Given the description of an element on the screen output the (x, y) to click on. 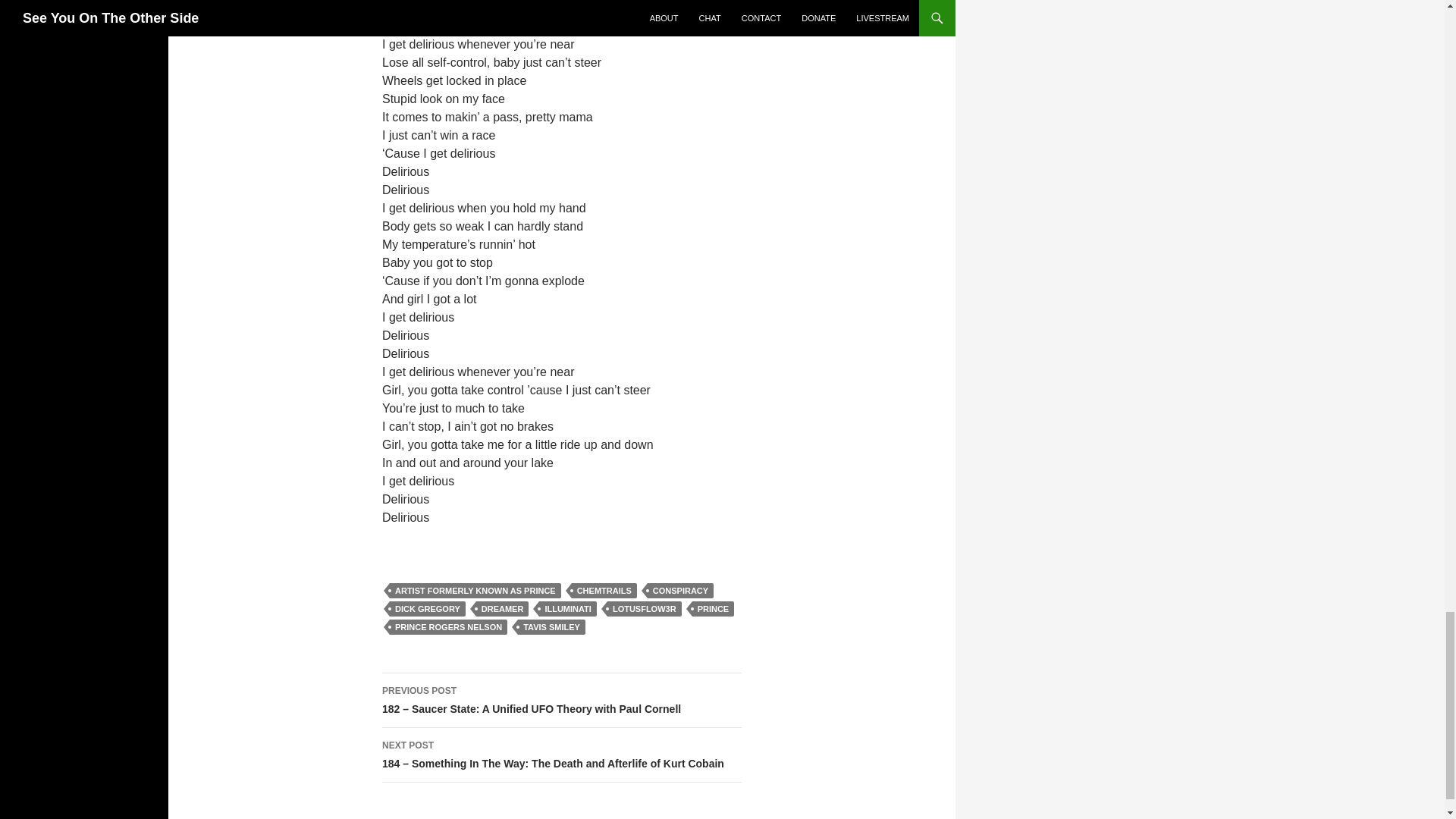
ILLUMINATI (567, 608)
CONSPIRACY (680, 590)
DREAMER (502, 608)
ARTIST FORMERLY KNOWN AS PRINCE (475, 590)
PRINCE (714, 608)
LOTUSFLOW3R (644, 608)
CHEMTRAILS (604, 590)
PRINCE ROGERS NELSON (448, 626)
TAVIS SMILEY (551, 626)
DICK GREGORY (427, 608)
